Given the description of an element on the screen output the (x, y) to click on. 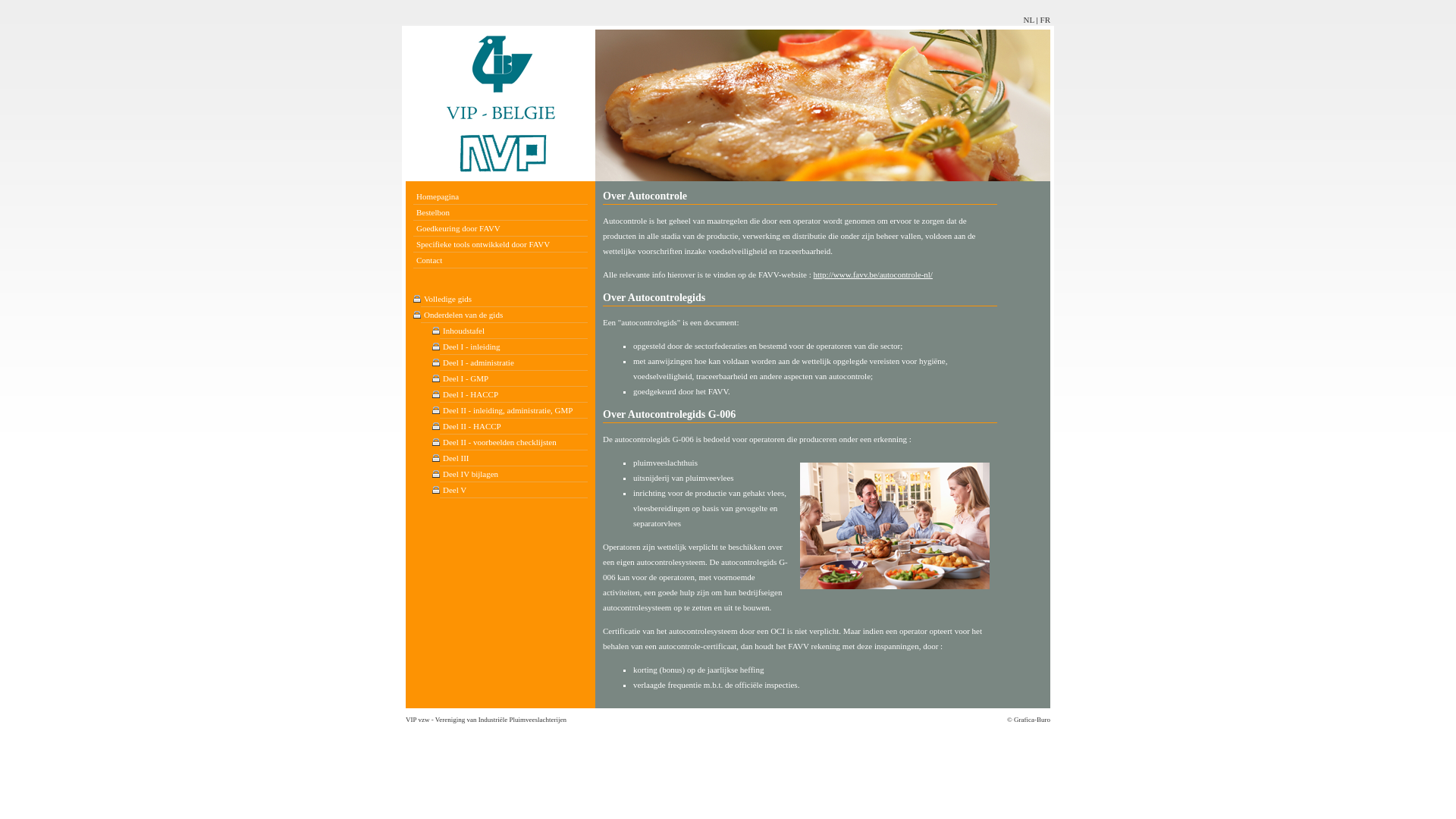
FR Element type: text (1045, 19)
Deel II - inleiding, administratie, GMP Element type: text (513, 410)
Deel II - voorbeelden checklijsten Element type: text (513, 442)
Deel I - administratie Element type: text (513, 362)
Deel II - HACCP Element type: text (513, 426)
Grafica-Buro Element type: text (1031, 719)
Bestelbon Element type: text (500, 212)
Specifieke tools ontwikkeld door FAVV Element type: text (500, 244)
Deel I - HACCP Element type: text (513, 394)
Deel V Element type: text (513, 490)
Volledige gids Element type: text (503, 299)
Contact Element type: text (500, 260)
Goedkeuring door FAVV Element type: text (500, 228)
Homepagina Element type: text (500, 196)
http://www.favv.be/autocontrole-nl/ Element type: text (871, 274)
Deel III Element type: text (513, 458)
Onderdelen van de gids Element type: text (503, 315)
Deel I - inleiding Element type: text (513, 346)
Deel IV bijlagen Element type: text (513, 474)
NL Element type: text (1028, 19)
Inhoudstafel Element type: text (513, 330)
Deel I - GMP Element type: text (513, 378)
